Given the description of an element on the screen output the (x, y) to click on. 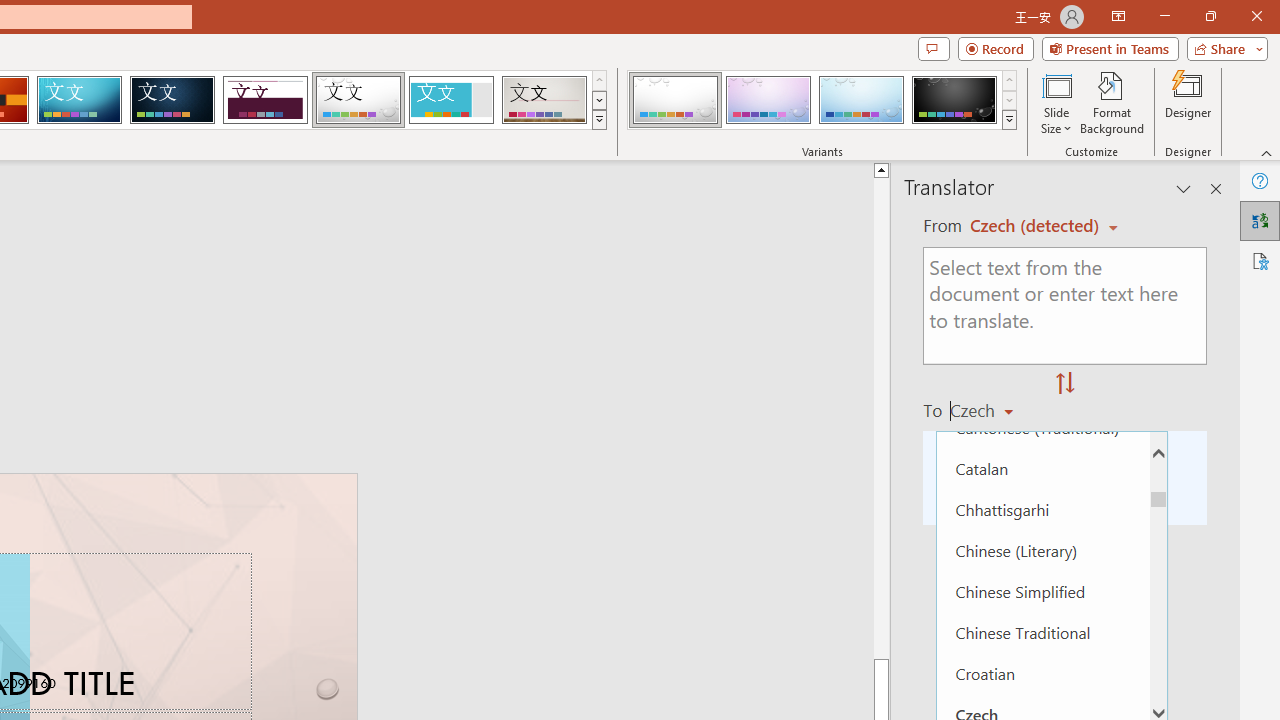
Chinese (Literary) (1042, 549)
AutomationID: ThemeVariantsGallery (822, 99)
Droplet Variant 3 (861, 100)
Circuit (79, 100)
Themes (598, 120)
Chinese Traditional (1042, 632)
Damask (171, 100)
Swap "from" and "to" languages. (1065, 383)
